Given the description of an element on the screen output the (x, y) to click on. 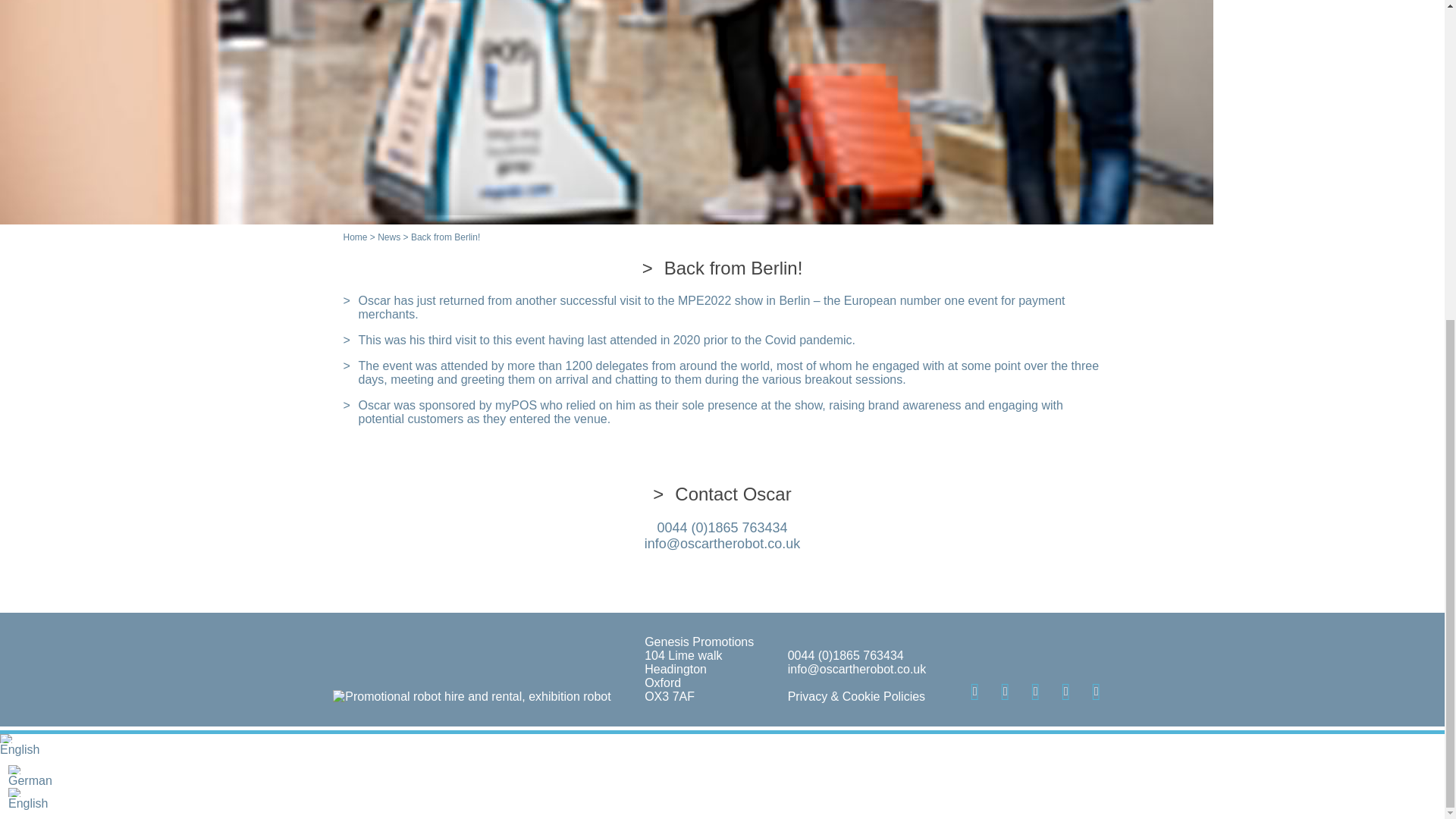
German (721, 775)
Home (354, 236)
English (14, 791)
News (388, 236)
Go to News. (388, 236)
Top (1408, 263)
English (6, 737)
Scroll to Top (1408, 263)
Go to Oscar the Robot. (354, 236)
German (14, 768)
